Given the description of an element on the screen output the (x, y) to click on. 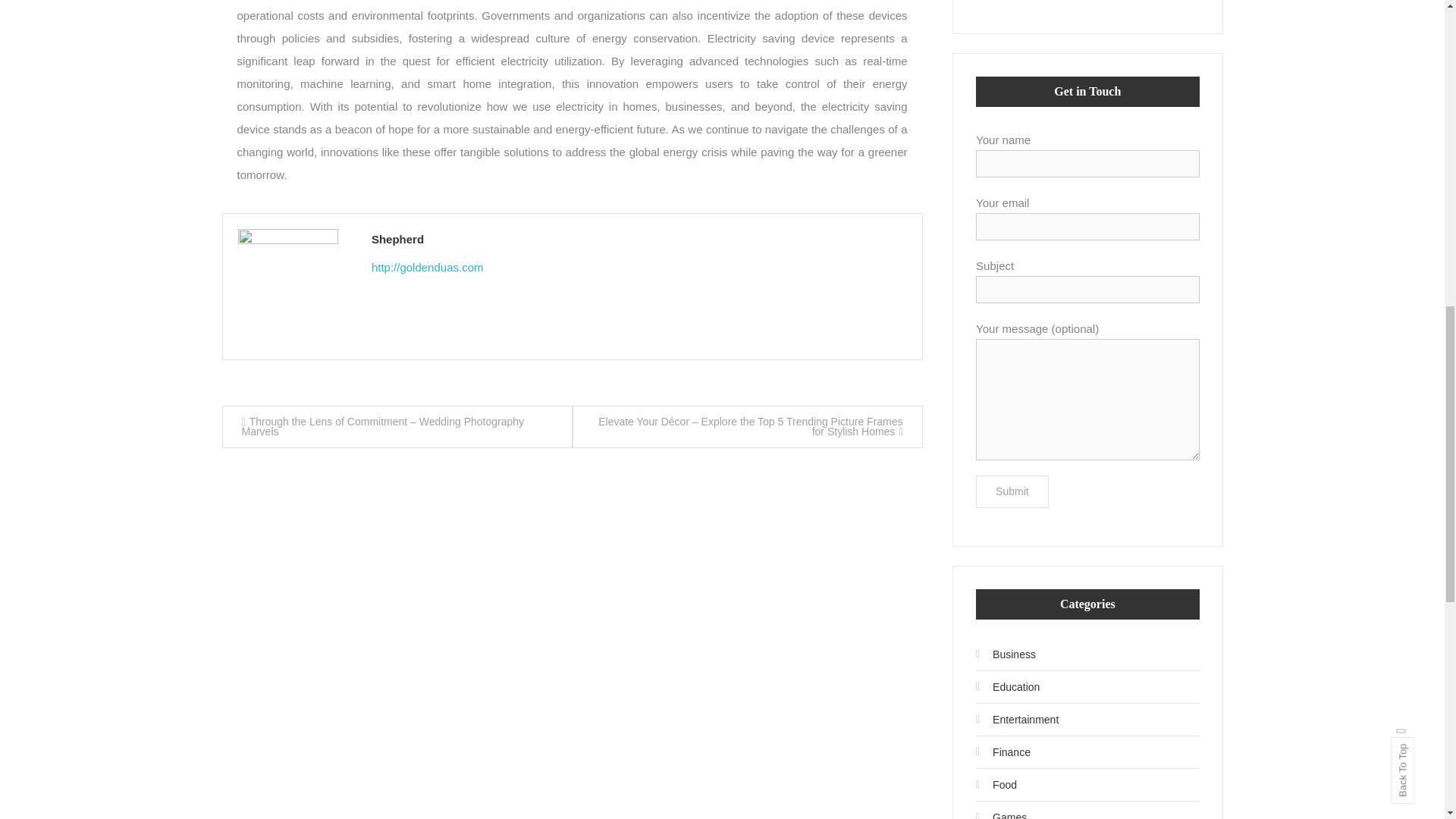
Education (1007, 686)
Business (1005, 654)
Games (1000, 812)
Shepherd (639, 239)
Submit (1011, 491)
Finance (1002, 752)
Submit (1011, 491)
Food (995, 784)
Entertainment (1016, 719)
